Given the description of an element on the screen output the (x, y) to click on. 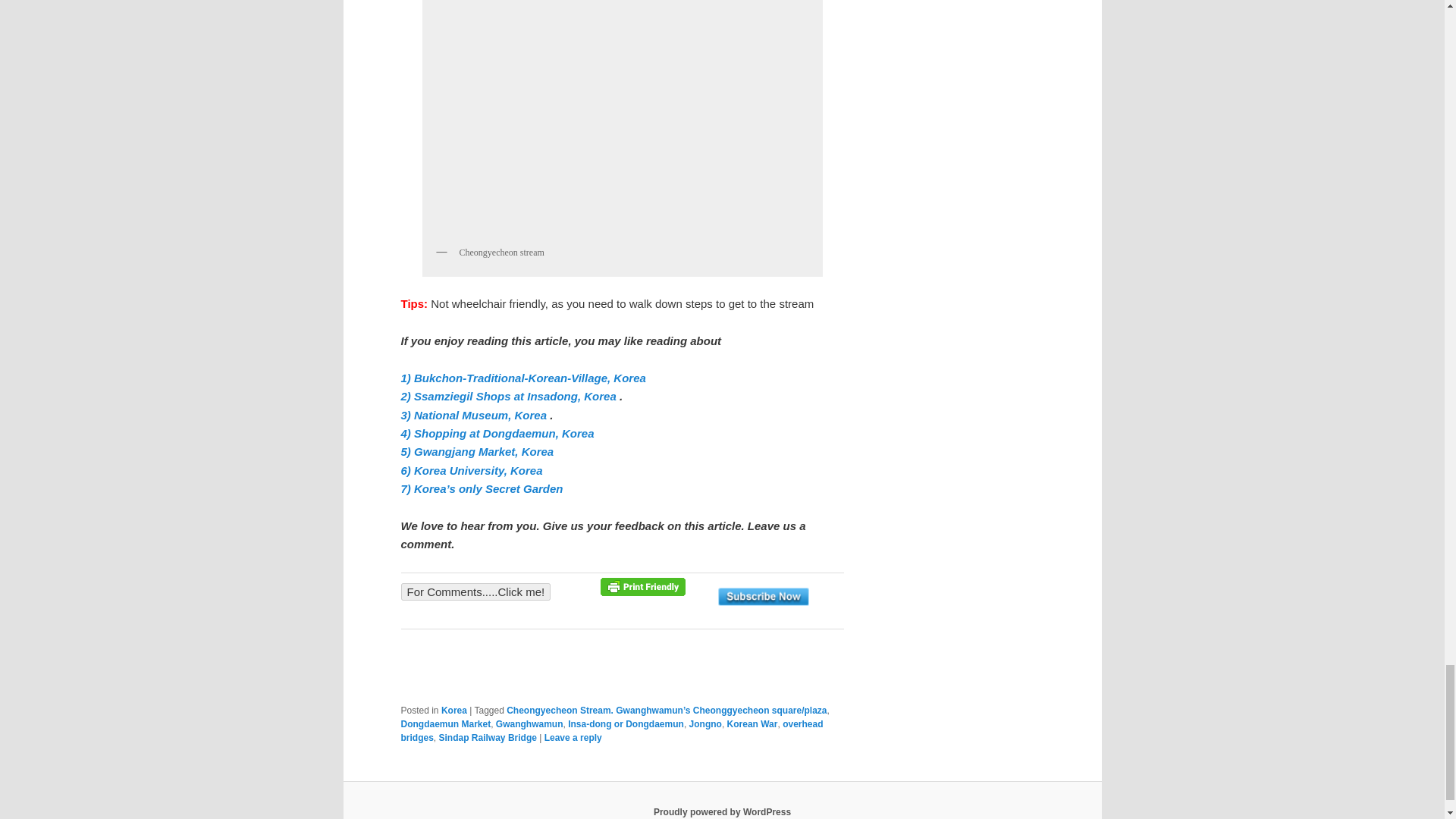
For Comments.....Click me! (475, 591)
Semantic Personal Publishing Platform (721, 811)
Printer Friendly and PDF (642, 591)
P1160540 (622, 119)
Korea (454, 710)
